Given the description of an element on the screen output the (x, y) to click on. 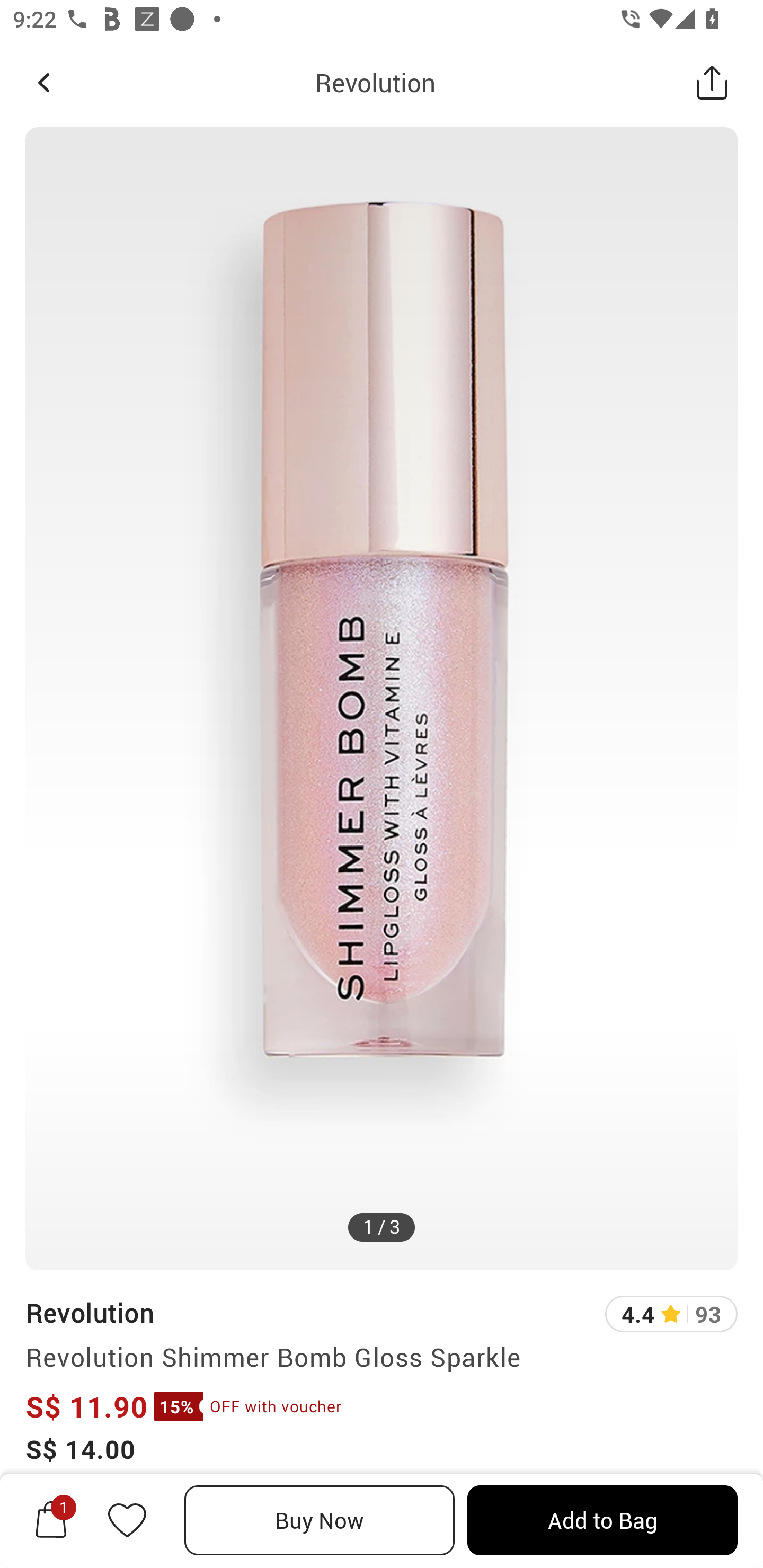
Revolution (375, 82)
Share this Product (711, 82)
Revolution (89, 1312)
4.4 93 (671, 1313)
Buy Now (319, 1519)
Add to Bag (601, 1519)
1 (50, 1520)
